Given the description of an element on the screen output the (x, y) to click on. 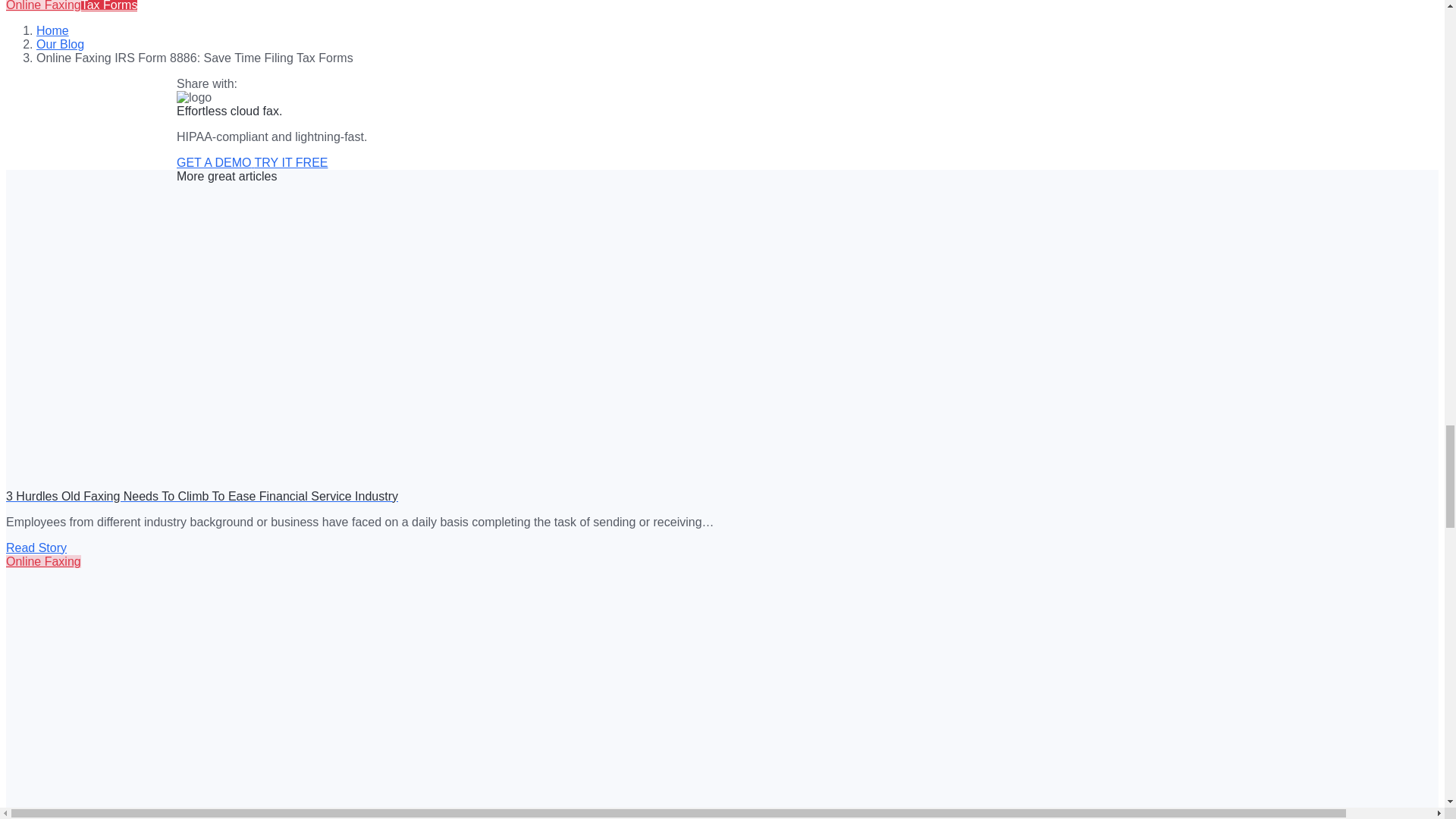
Twitter (25, 194)
RSS (25, 91)
LinkedIn (25, 228)
Follow by Email (25, 126)
Facebook (25, 160)
